Given the description of an element on the screen output the (x, y) to click on. 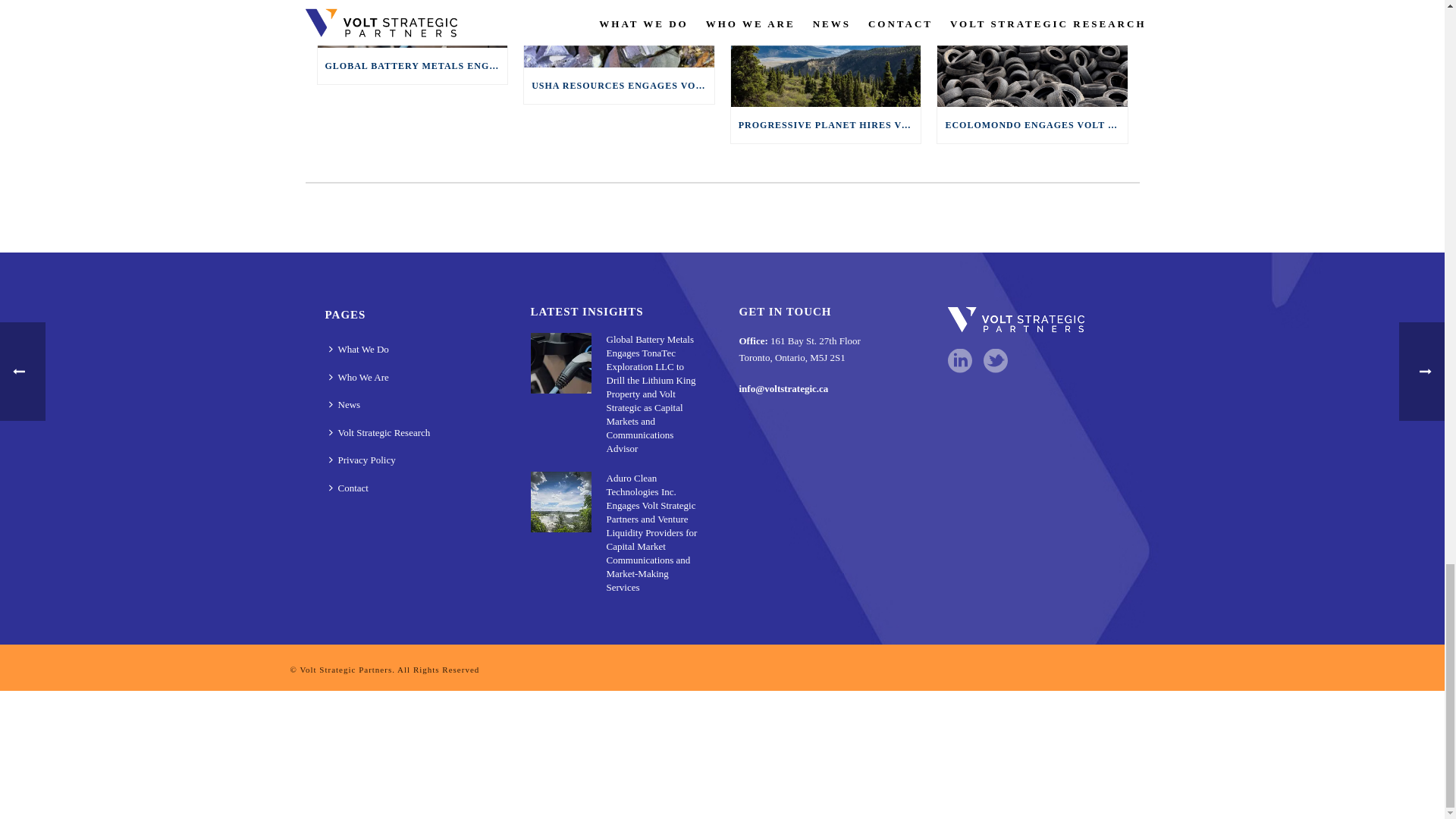
Contact (351, 488)
Privacy Policy (365, 460)
USHA RESOURCES ENGAGES VOLT STRATEGIC PARTNERS (619, 85)
Who We Are (361, 377)
Volt Strategic Research (382, 433)
